Given the description of an element on the screen output the (x, y) to click on. 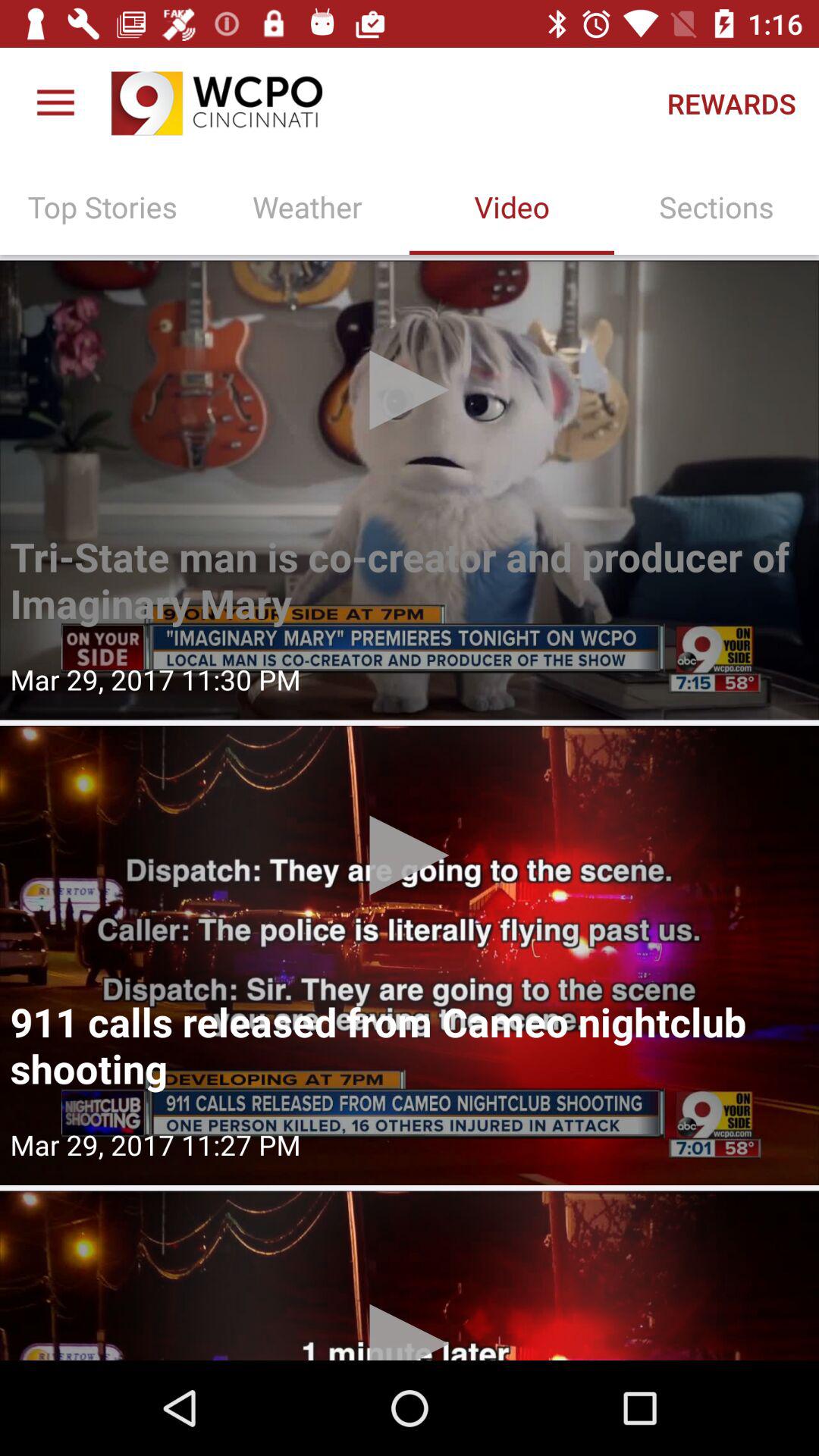
play the video (409, 955)
